Given the description of an element on the screen output the (x, y) to click on. 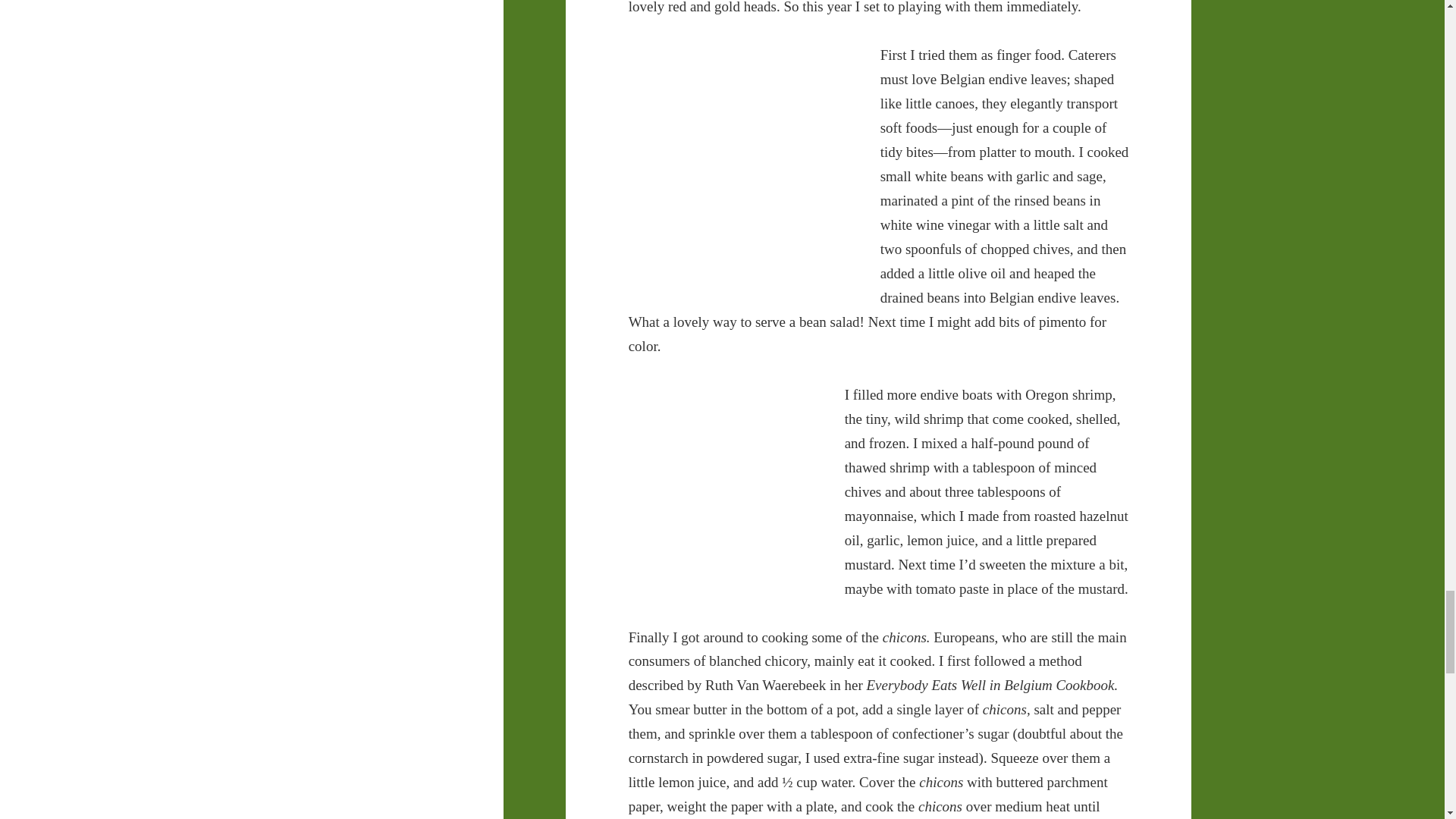
shrimp in endive (724, 484)
beans in endive (742, 162)
